Given the description of an element on the screen output the (x, y) to click on. 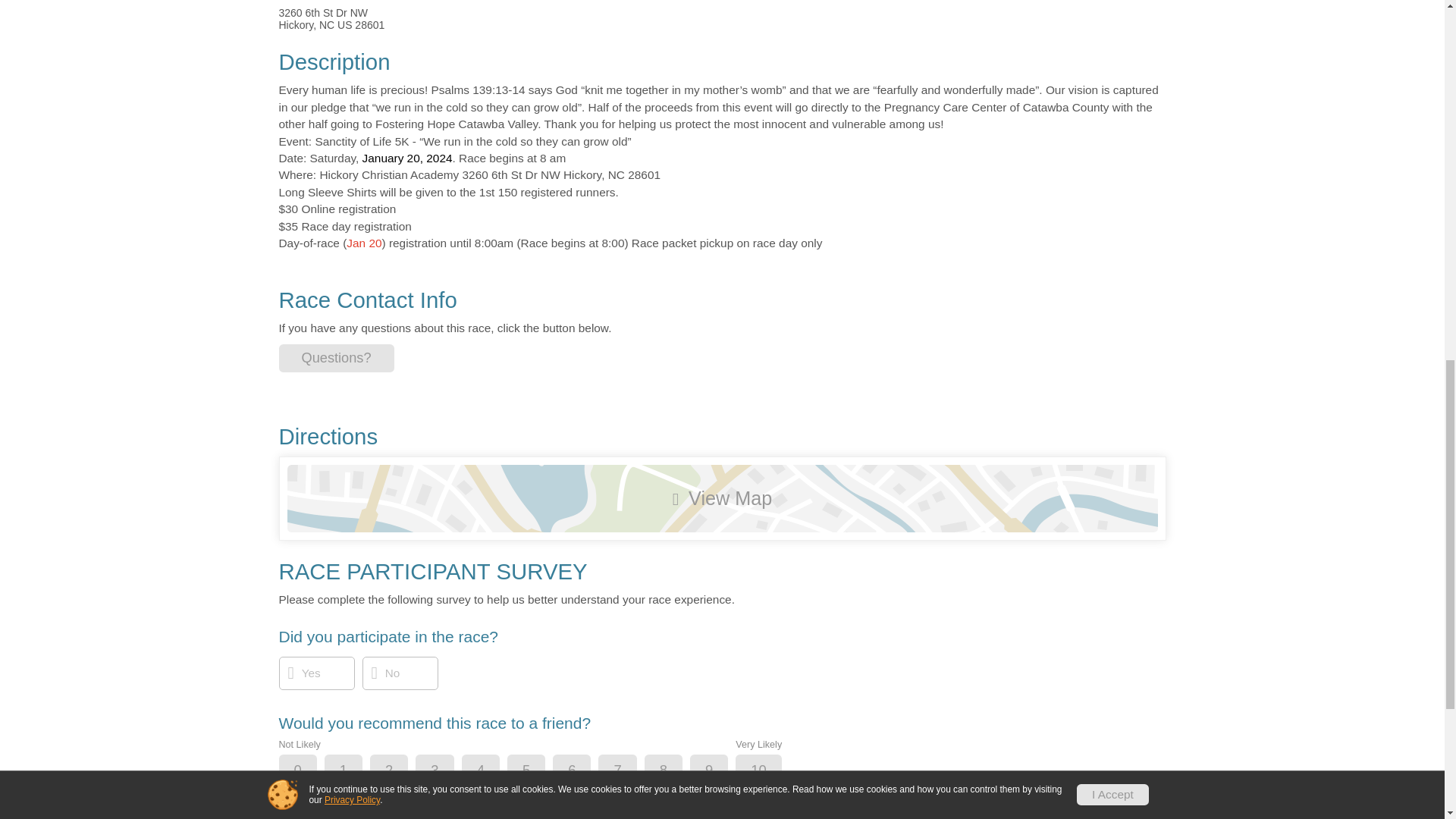
9 (721, 770)
Additional Notes (349, 813)
5 (539, 770)
10 (770, 770)
6 (584, 770)
View Map (721, 498)
4 (493, 770)
Questions? (336, 357)
3 (447, 770)
1 (355, 770)
